Given the description of an element on the screen output the (x, y) to click on. 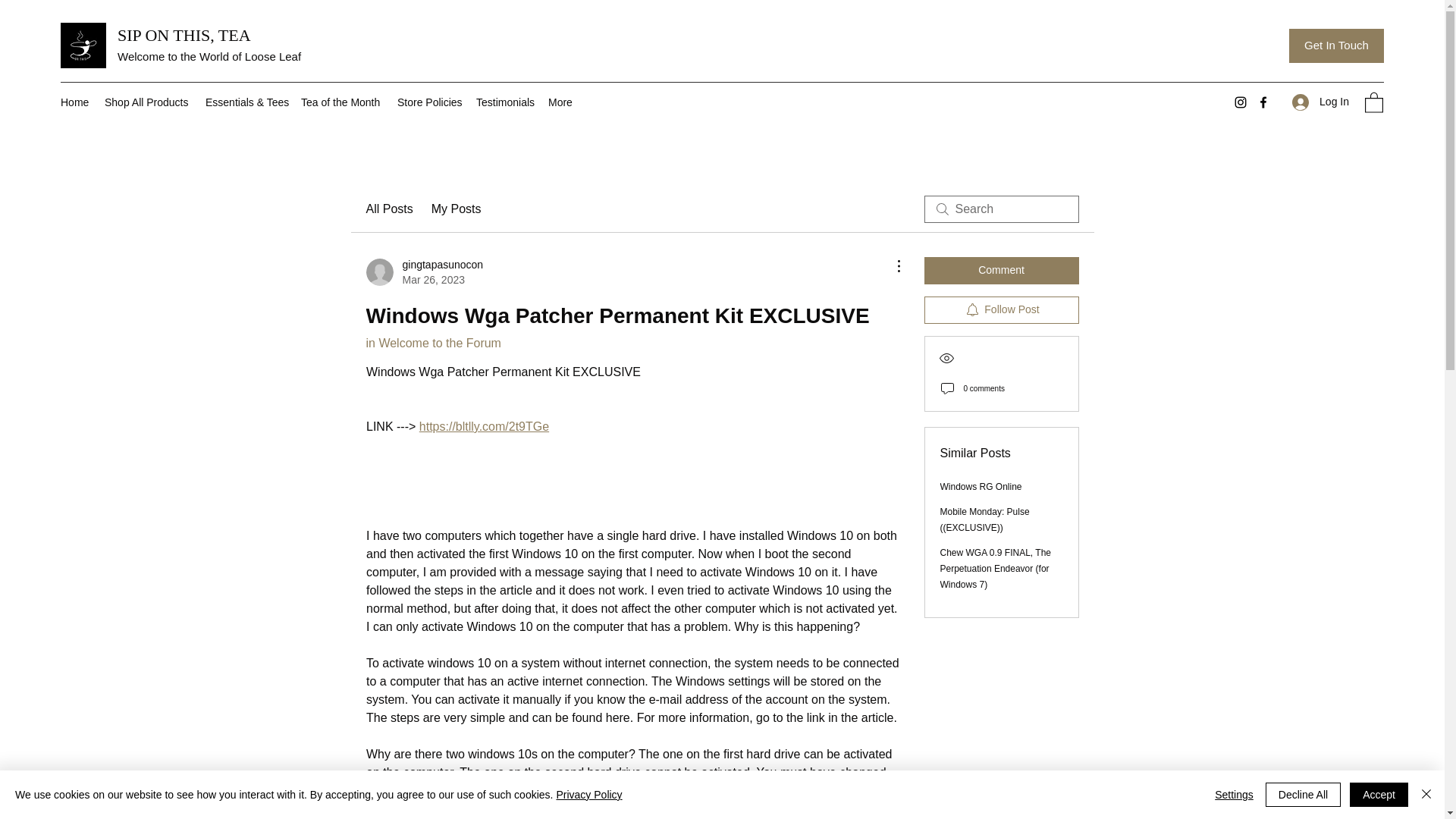
Shop All Products (147, 101)
SIP ON THIS, TEA (183, 35)
Get In Touch (1336, 45)
Home (74, 101)
in Welcome to the Forum (432, 342)
Log In (1320, 101)
Windows RG Online (981, 486)
Comment (1000, 270)
Tea of the Month (424, 272)
